Given the description of an element on the screen output the (x, y) to click on. 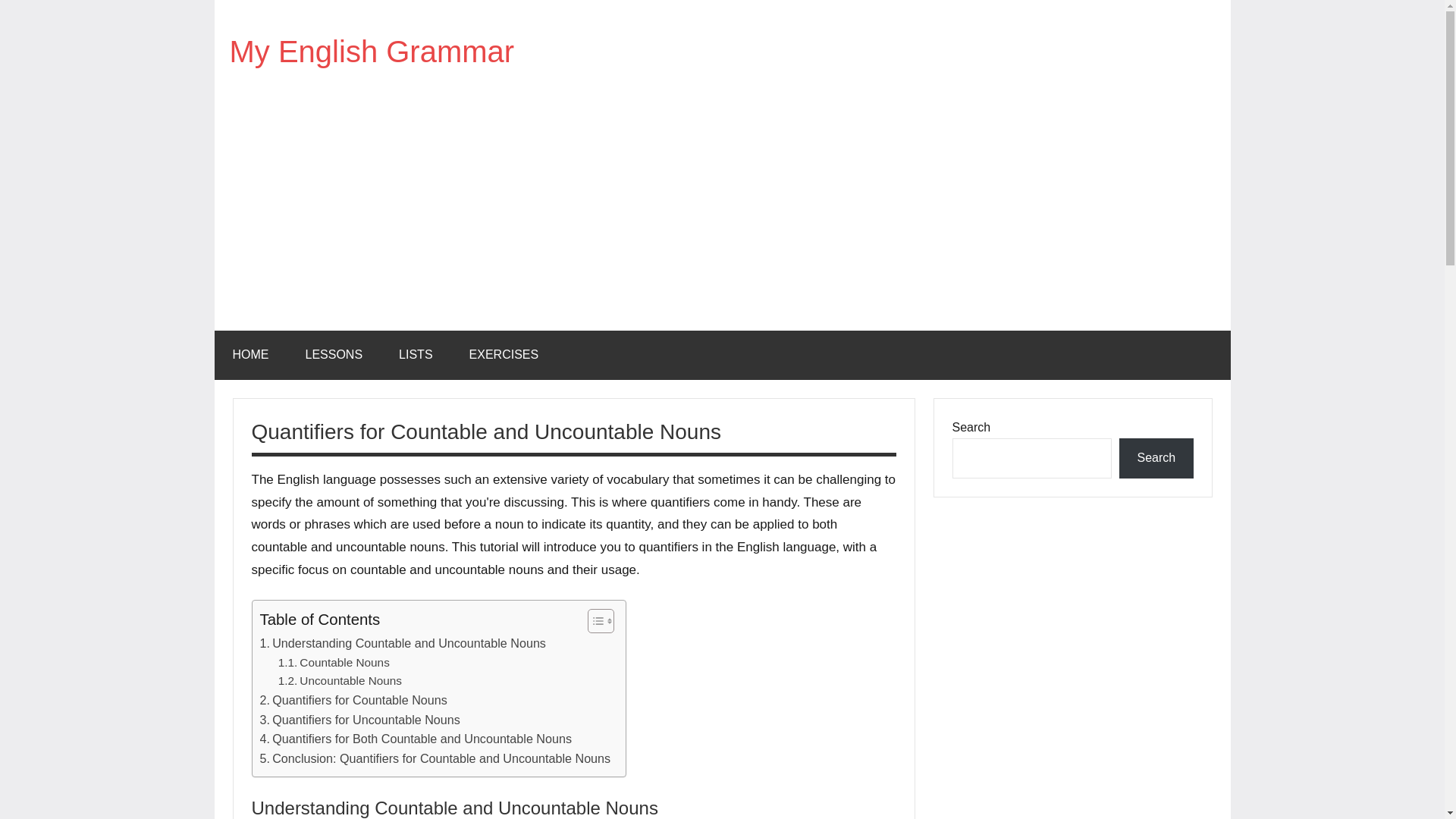
Uncountable Nouns (339, 681)
LESSONS (333, 355)
EXERCISES (504, 355)
Conclusion: Quantifiers for Countable and Uncountable Nouns (434, 759)
Conclusion: Quantifiers for Countable and Uncountable Nouns (434, 759)
Search (1155, 458)
Quantifiers for Both Countable and Uncountable Nouns (415, 739)
Uncountable Nouns (339, 681)
Quantifiers for Uncountable Nouns (359, 719)
HOME (250, 355)
Countable Nouns (334, 662)
LISTS (414, 355)
Quantifiers for Countable Nouns (352, 700)
Quantifiers for Countable Nouns (352, 700)
Quantifiers for Uncountable Nouns (359, 719)
